Given the description of an element on the screen output the (x, y) to click on. 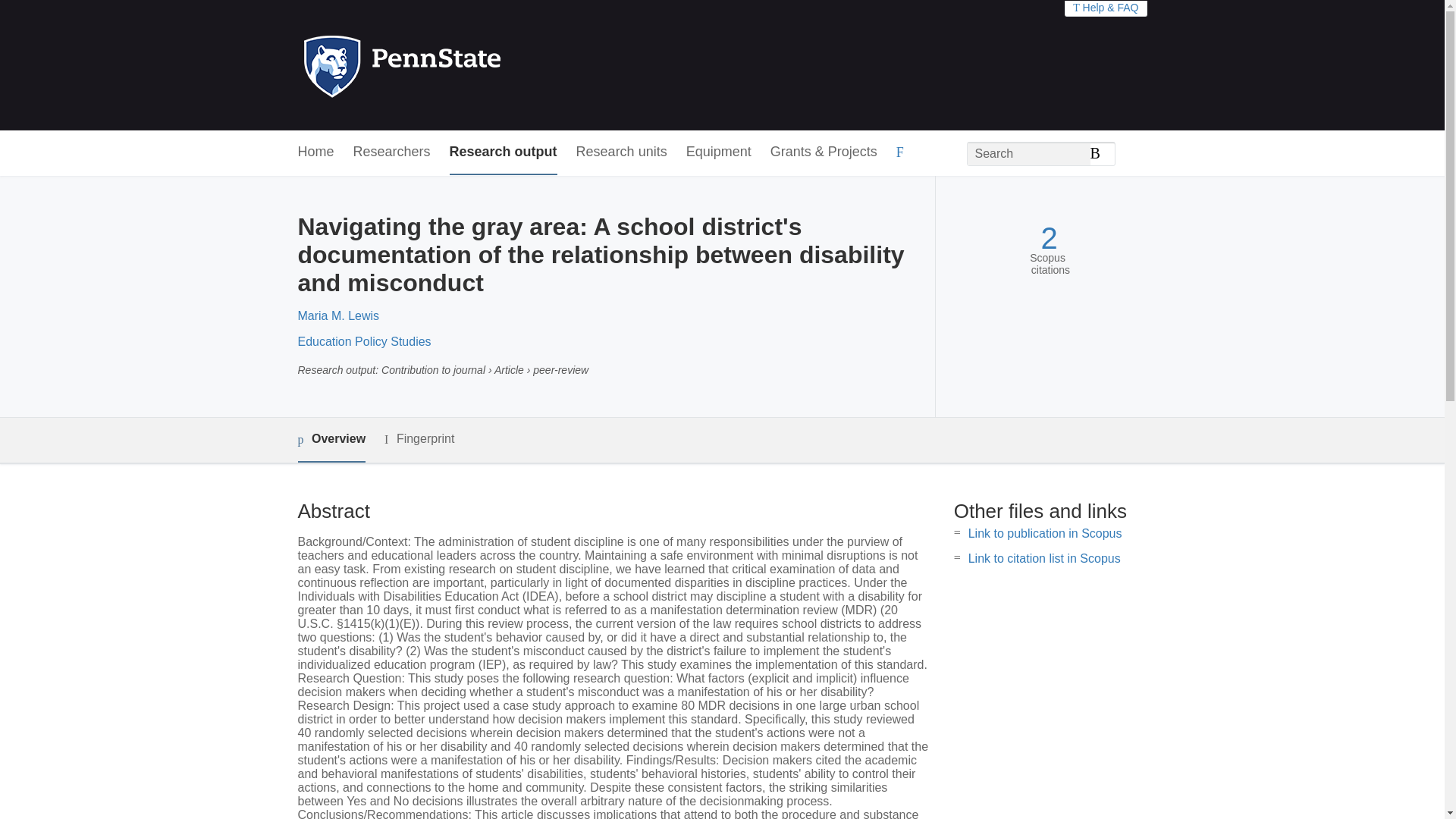
Researchers (391, 152)
Equipment (718, 152)
Link to publication in Scopus (1045, 533)
Fingerprint (419, 439)
Penn State Home (467, 65)
Overview (331, 439)
Research output (503, 152)
Education Policy Studies (363, 341)
Link to citation list in Scopus (1044, 558)
Maria M. Lewis (337, 315)
Research units (621, 152)
